Given the description of an element on the screen output the (x, y) to click on. 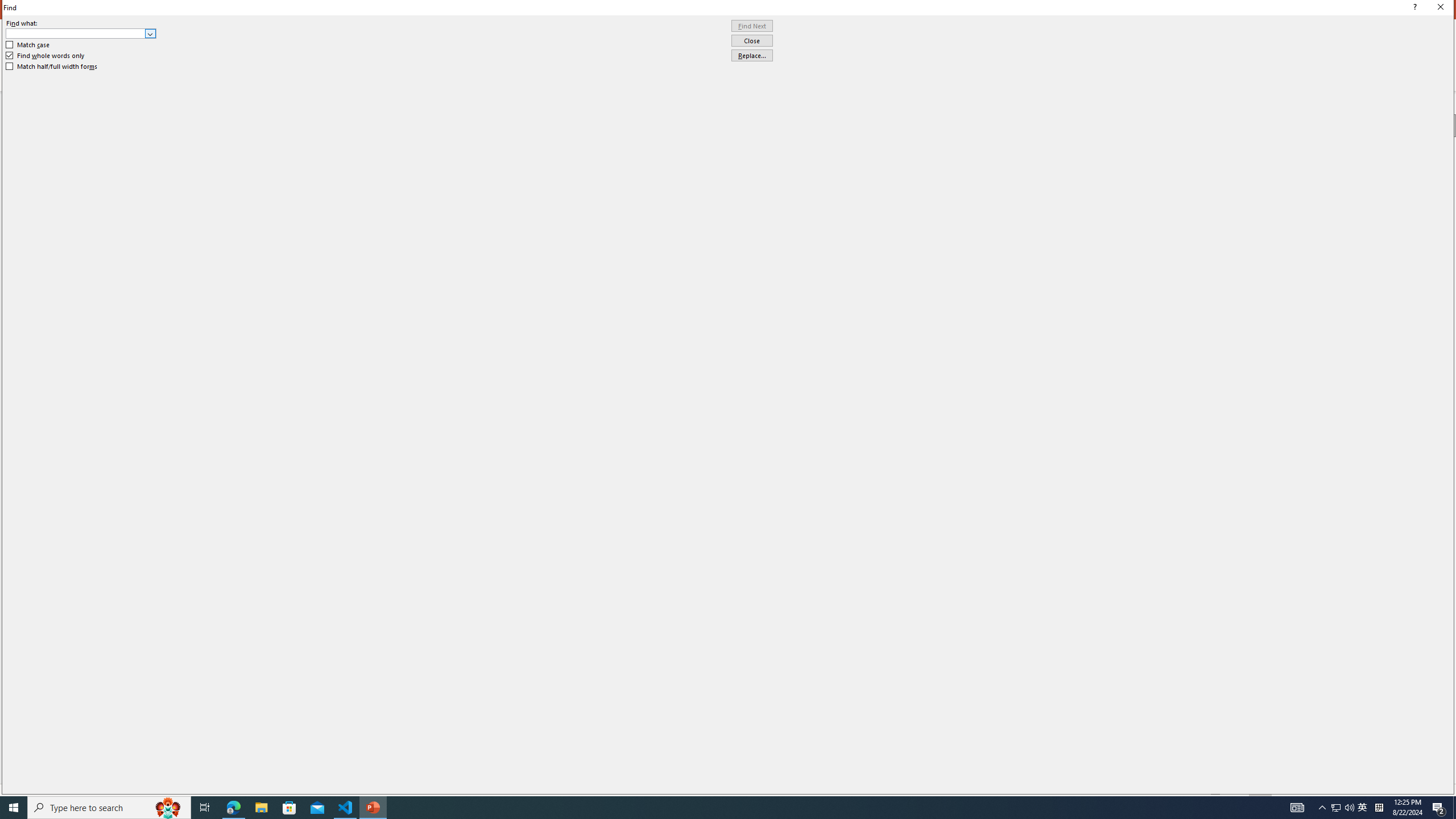
Match half/full width forms (52, 66)
Context help (1413, 8)
Find what (80, 33)
Match case (27, 44)
Find Next (751, 25)
Find whole words only (45, 55)
Find what (75, 33)
